Given the description of an element on the screen output the (x, y) to click on. 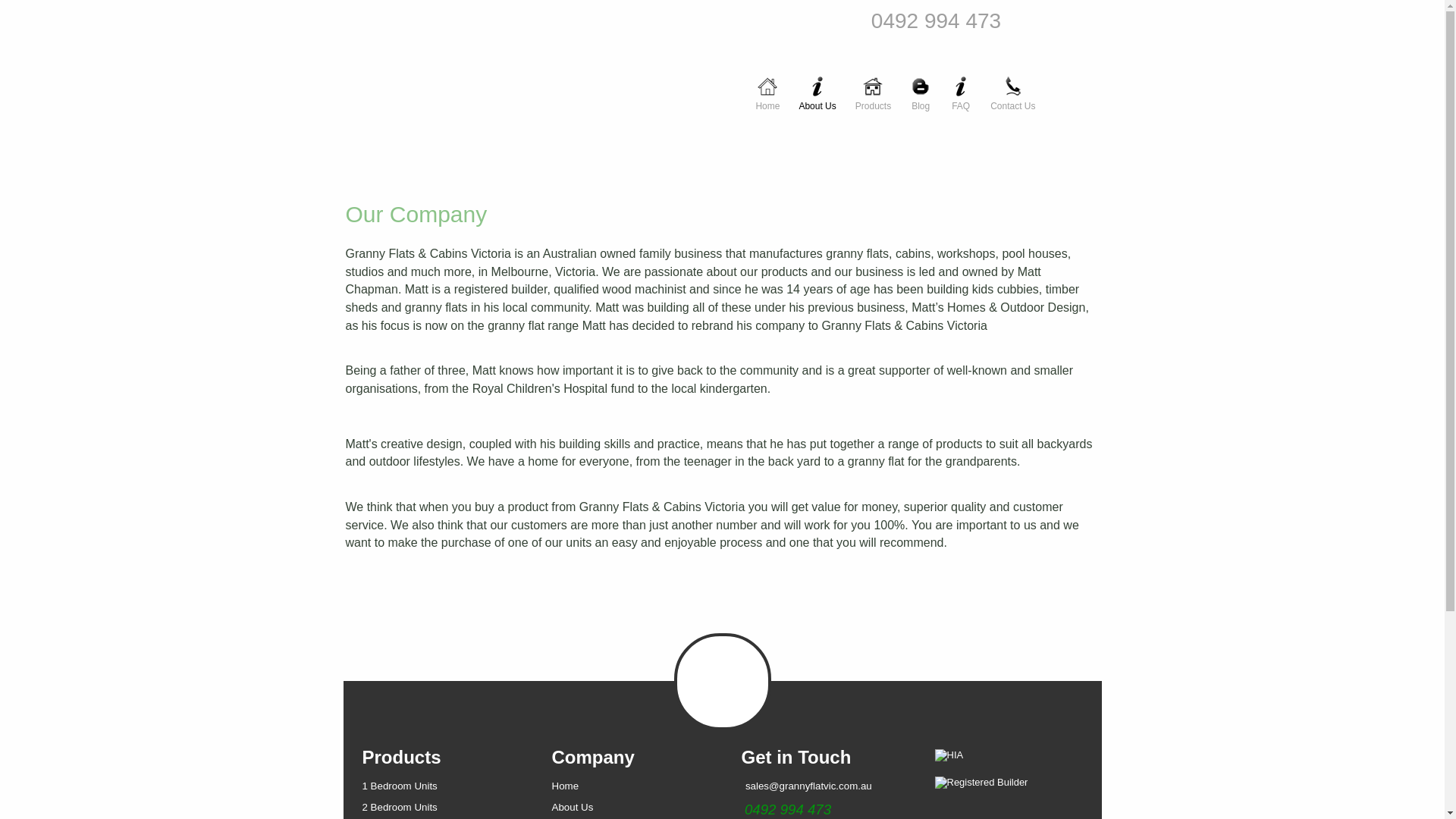
About Us Element type: text (816, 84)
Home Element type: text (767, 84)
Products Element type: text (873, 84)
  Element type: text (742, 809)
2 Bedroom Units Element type: text (399, 806)
Home Element type: text (565, 784)
Contact Us Element type: text (1012, 84)
About Us Element type: text (572, 806)
Call us Element type: hover (742, 809)
Blog Element type: text (920, 84)
FAQ Element type: text (960, 84)
  Element type: text (741, 784)
1 Bedroom Units Element type: text (399, 784)
